Given the description of an element on the screen output the (x, y) to click on. 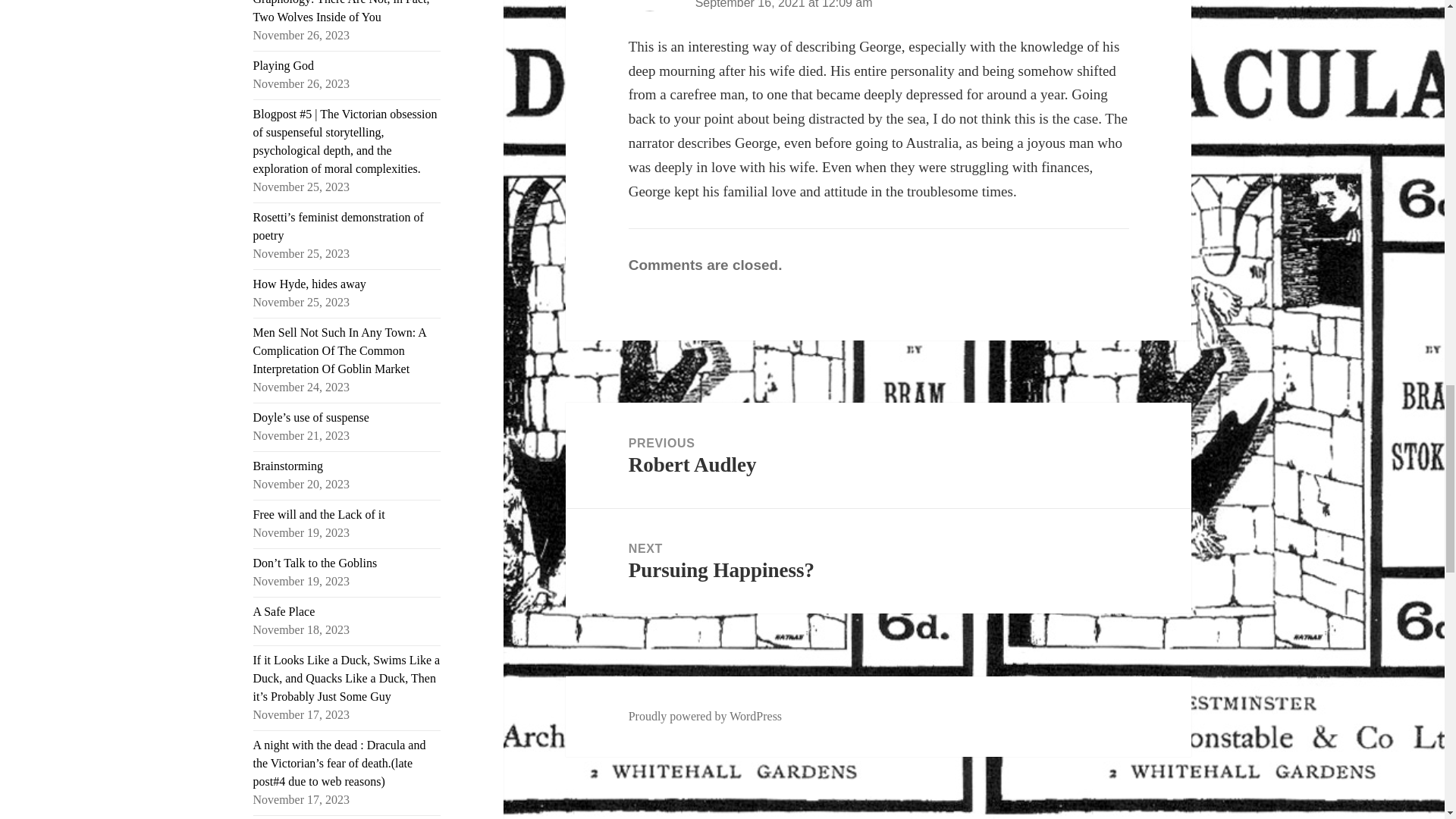
Brainstorming (288, 465)
Free will and the Lack of it (319, 513)
How Hyde, hides away (309, 283)
A Safe Place (284, 611)
Playing God (283, 65)
Graphology: There Are Not, in Fact, Two Wolves Inside of You (341, 11)
